Given the description of an element on the screen output the (x, y) to click on. 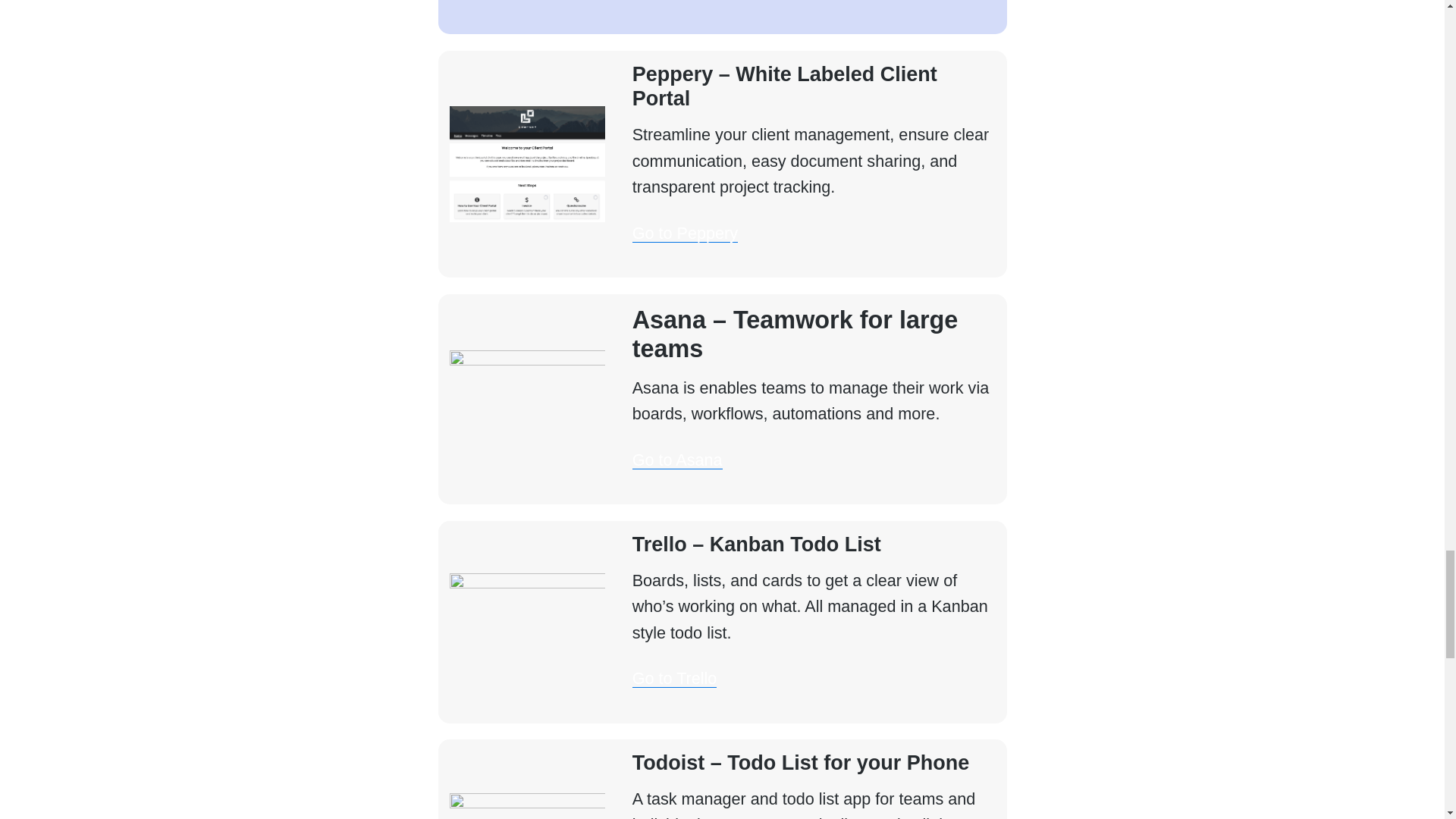
Go to Asana (676, 459)
Go to Trello (674, 678)
Go to Peppery (684, 232)
